Given the description of an element on the screen output the (x, y) to click on. 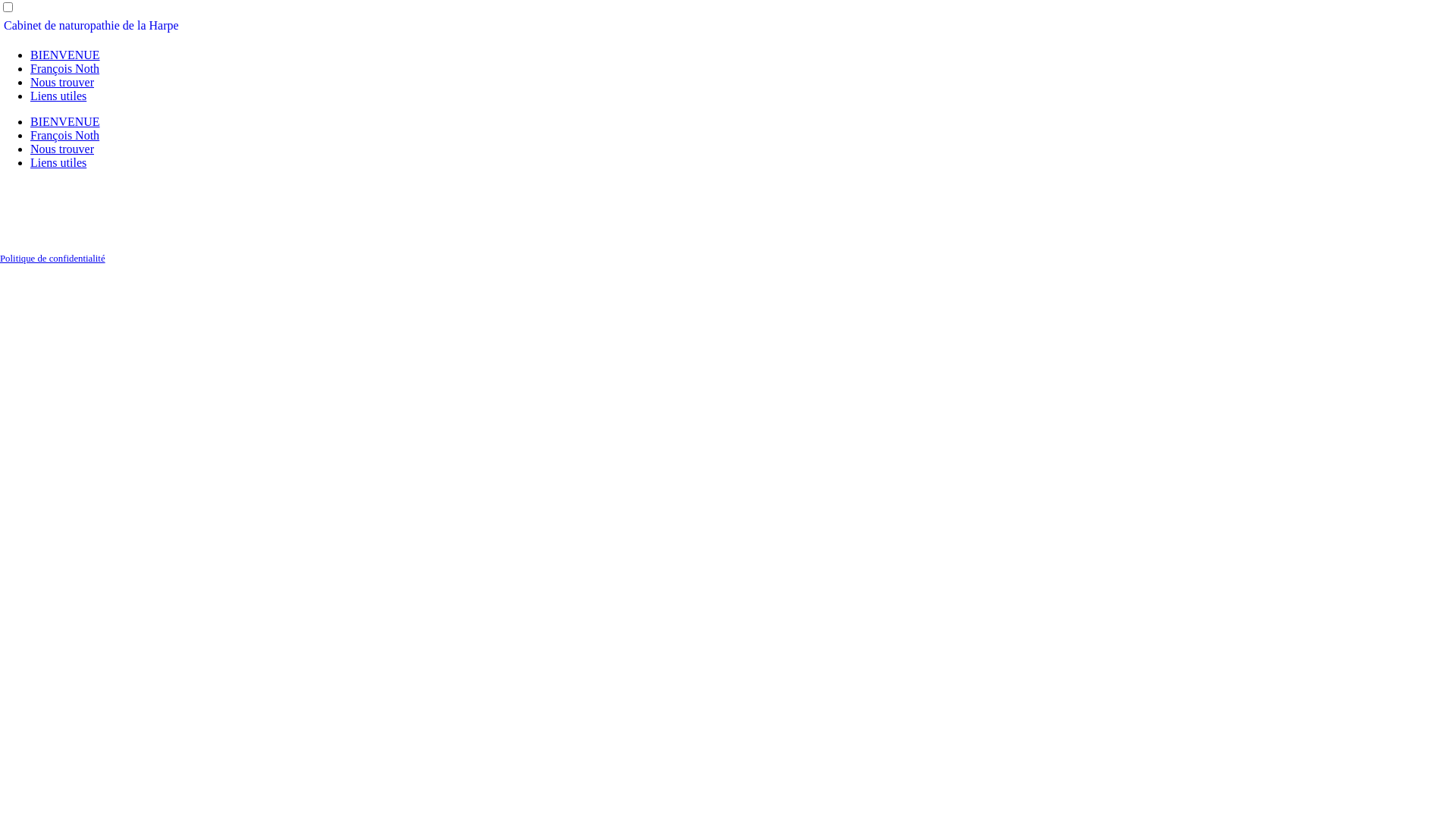
Liens utiles Element type: text (58, 162)
Nous trouver Element type: text (62, 81)
BIENVENUE Element type: text (65, 54)
BIENVENUE Element type: text (65, 121)
Nous trouver Element type: text (62, 148)
Liens utiles Element type: text (58, 95)
Cabinet de naturopathie de la Harpe Element type: text (727, 25)
